Given the description of an element on the screen output the (x, y) to click on. 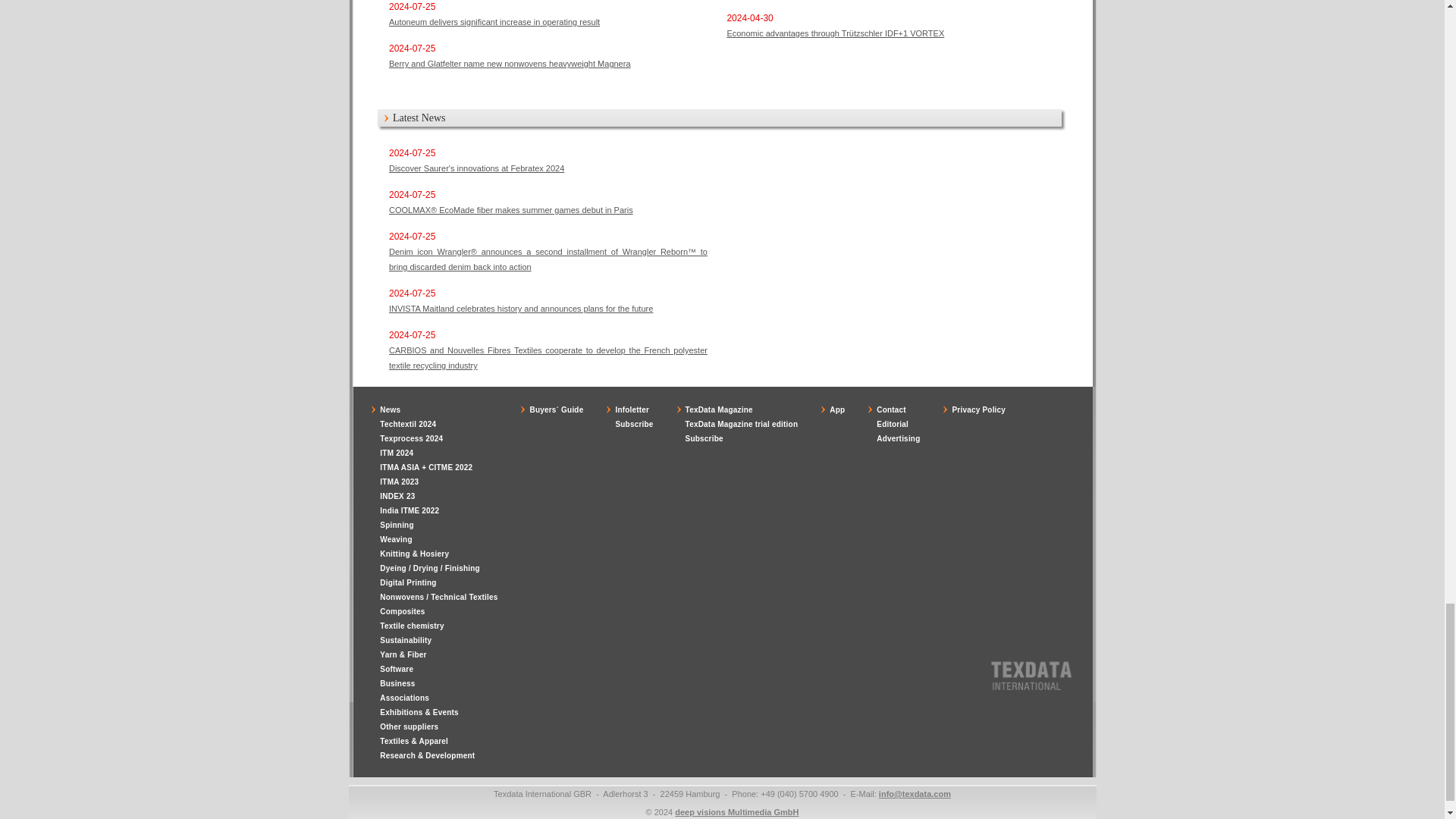
Spinning - Discover Saurer's innovations at Febratex 2024 (476, 167)
